Given the description of an element on the screen output the (x, y) to click on. 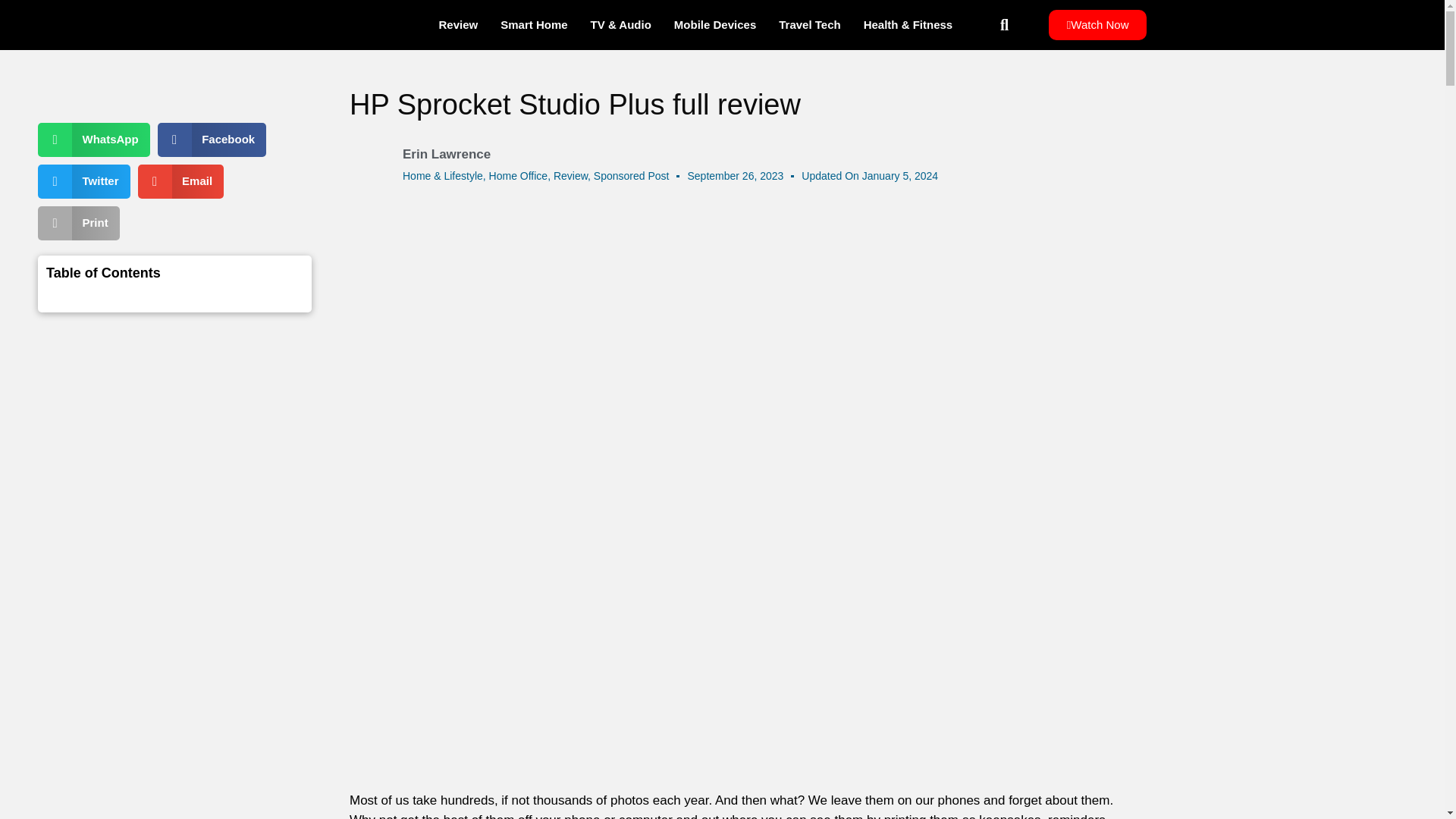
September 26, 2023 (735, 176)
Smart Home (533, 24)
Travel Tech (809, 24)
Watch Now (1097, 24)
Review (458, 24)
Sponsored Post (631, 175)
Home Office (518, 175)
Review (570, 175)
Mobile Devices (714, 24)
